Given the description of an element on the screen output the (x, y) to click on. 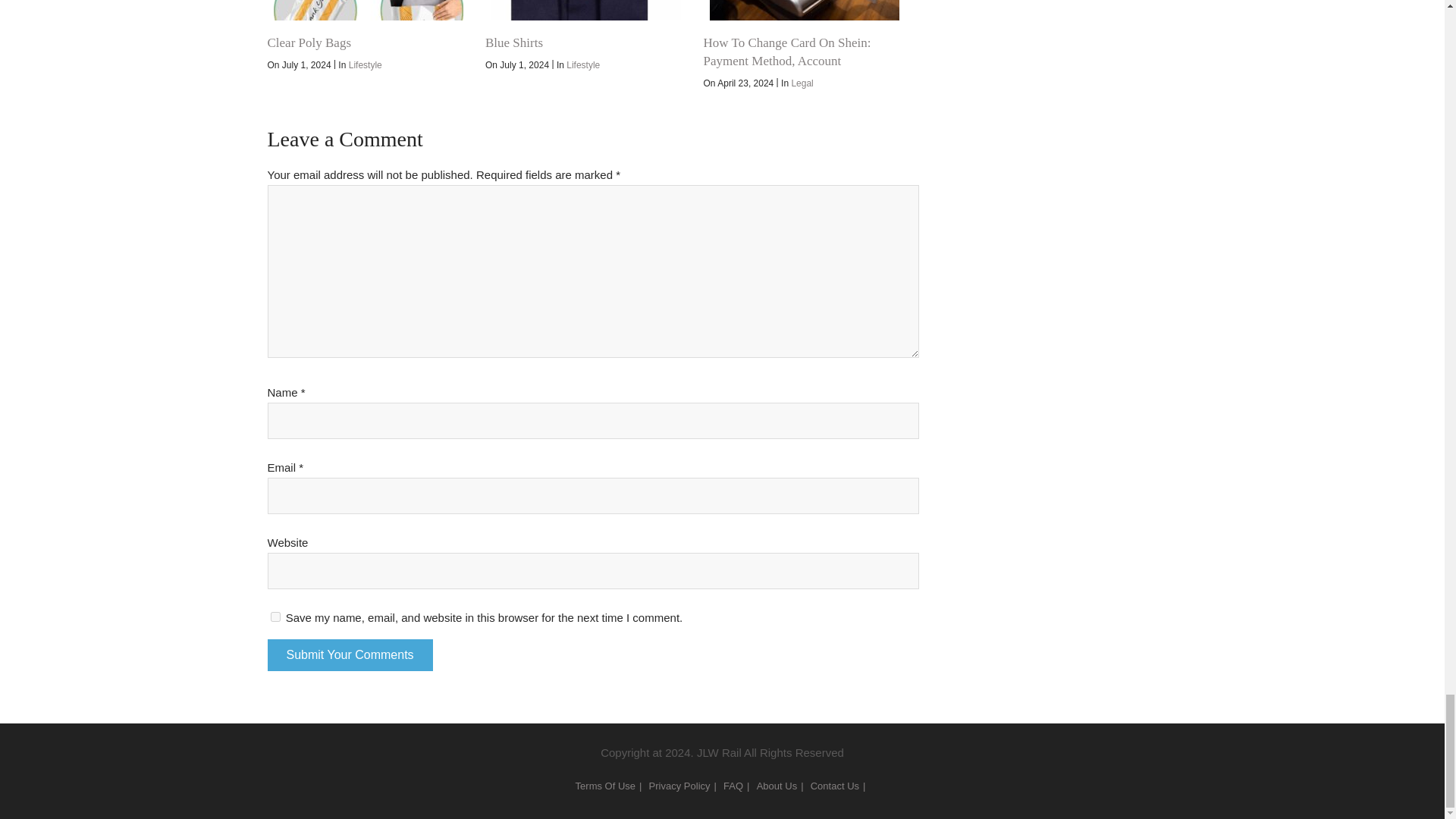
How To Change Card On Shein: Payment Method, Account (804, 10)
Legal (801, 82)
How To Change Card On Shein: Payment Method, Account (786, 51)
Submit Your Comments (349, 654)
Blue Shirts (585, 10)
yes (274, 616)
Lifestyle (365, 64)
Clear Poly Bags (367, 10)
Clear Poly Bags (308, 42)
Blue Shirts (513, 42)
Lifestyle (582, 64)
Submit Your Comments (349, 654)
